Given the description of an element on the screen output the (x, y) to click on. 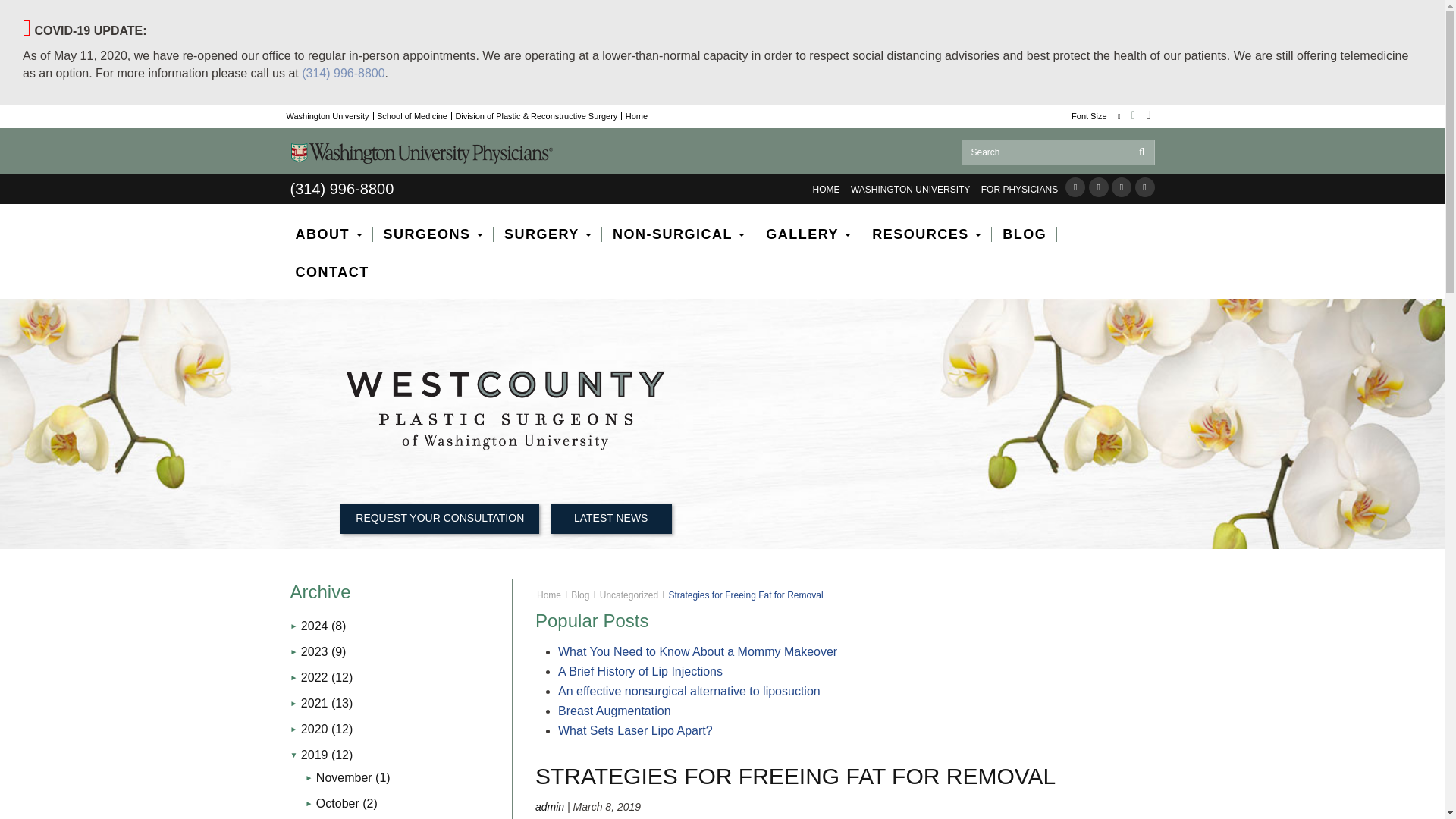
2024 (317, 625)
ABOUT (333, 241)
2023 (317, 651)
Home (636, 115)
School of Medicine (411, 115)
West County Plastic Surgeons (505, 410)
Strategies for Freeing Fat for Removal (795, 775)
FOR PHYSICIANS (1019, 189)
Posts by admin (549, 806)
Washington University (327, 115)
SURGEONS (438, 241)
WASHINGTON UNIVERSITY (909, 189)
HOME (826, 189)
